Given the description of an element on the screen output the (x, y) to click on. 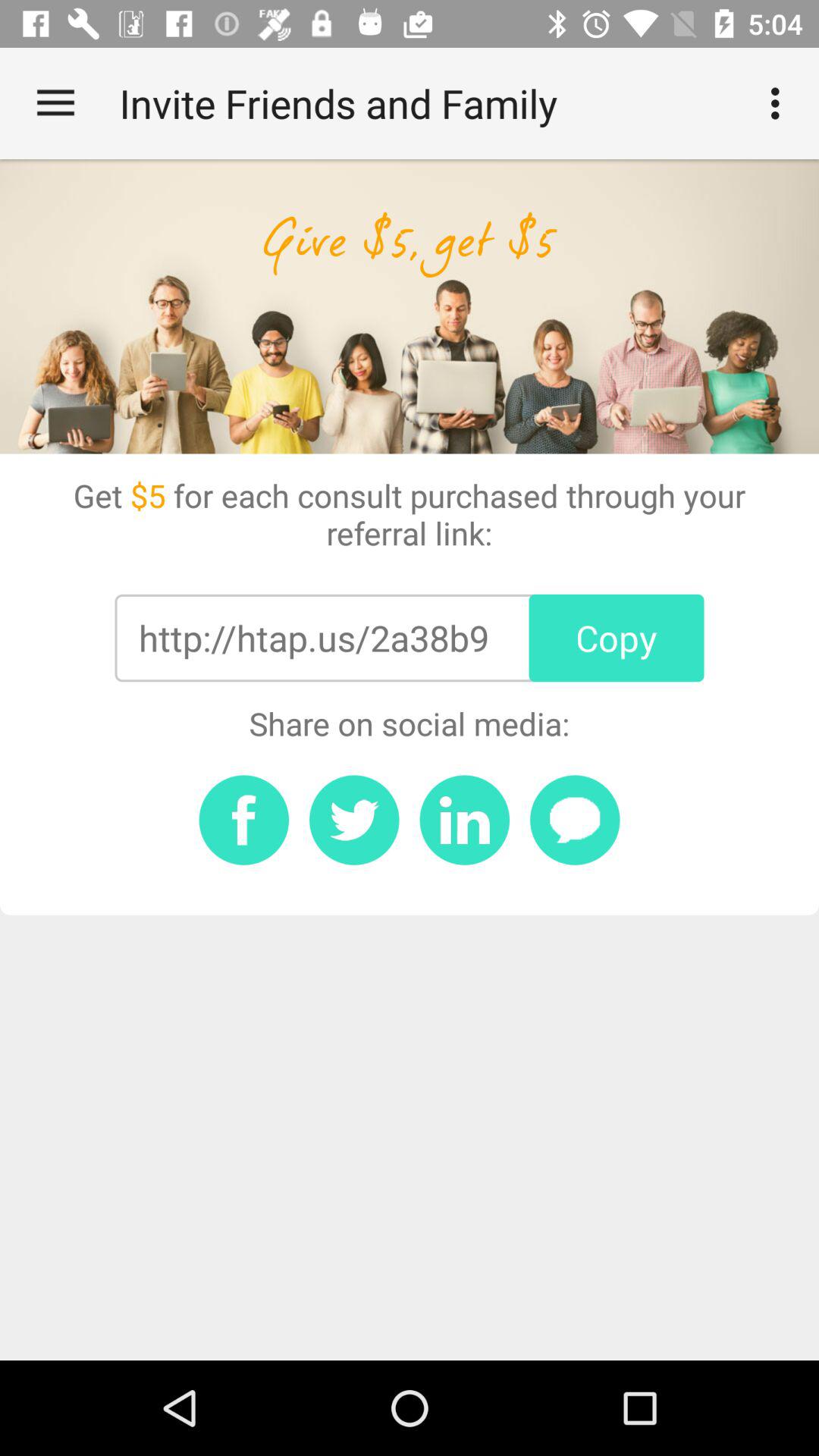
click the app to the left of the invite friends and (55, 103)
